Given the description of an element on the screen output the (x, y) to click on. 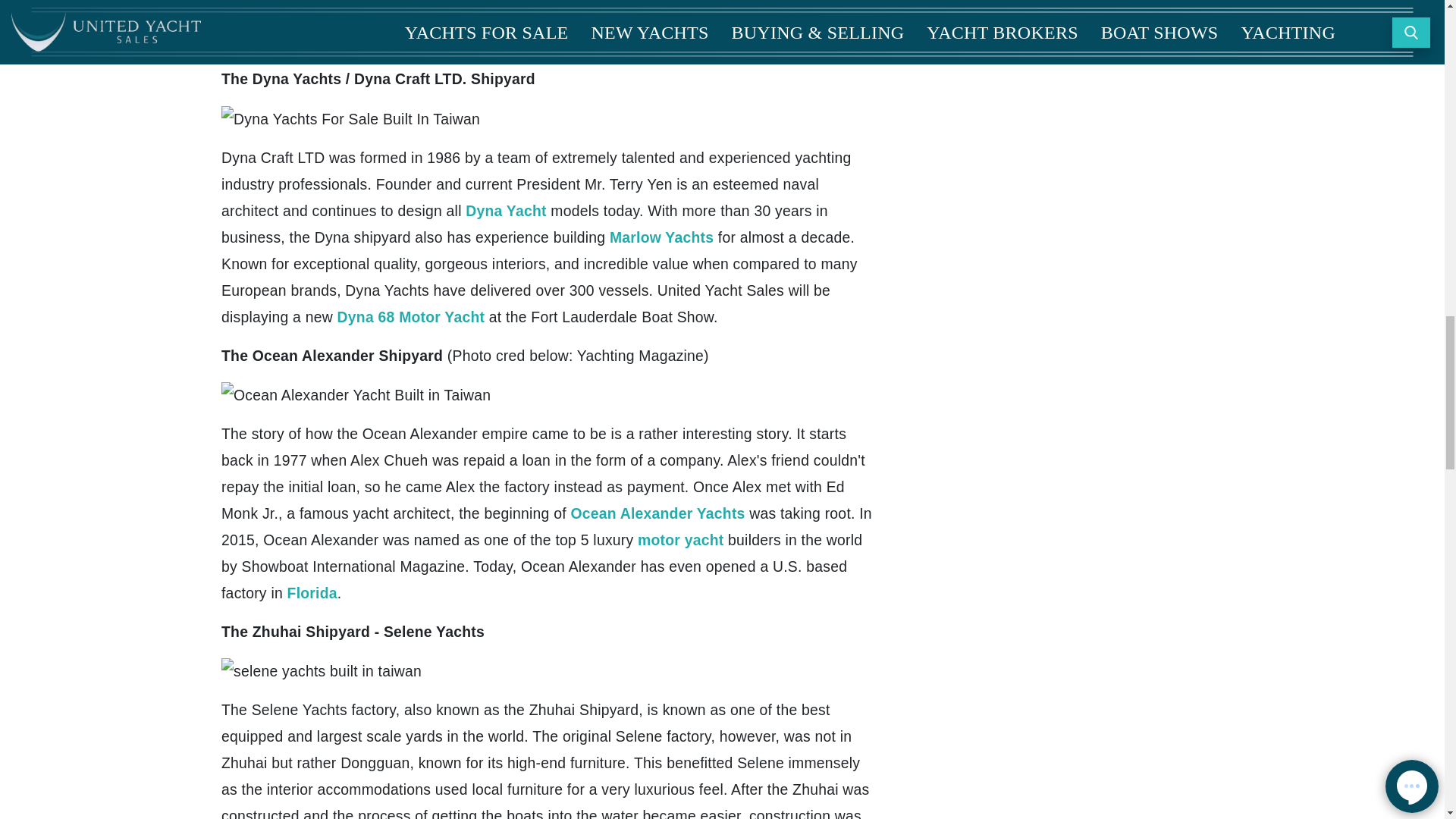
selene yachts built in taiwan (321, 671)
Ocean Alexander Yacht Built in Taiwan (355, 395)
Dyna Yachts For Sale Built In Taiwan (350, 119)
